Given the description of an element on the screen output the (x, y) to click on. 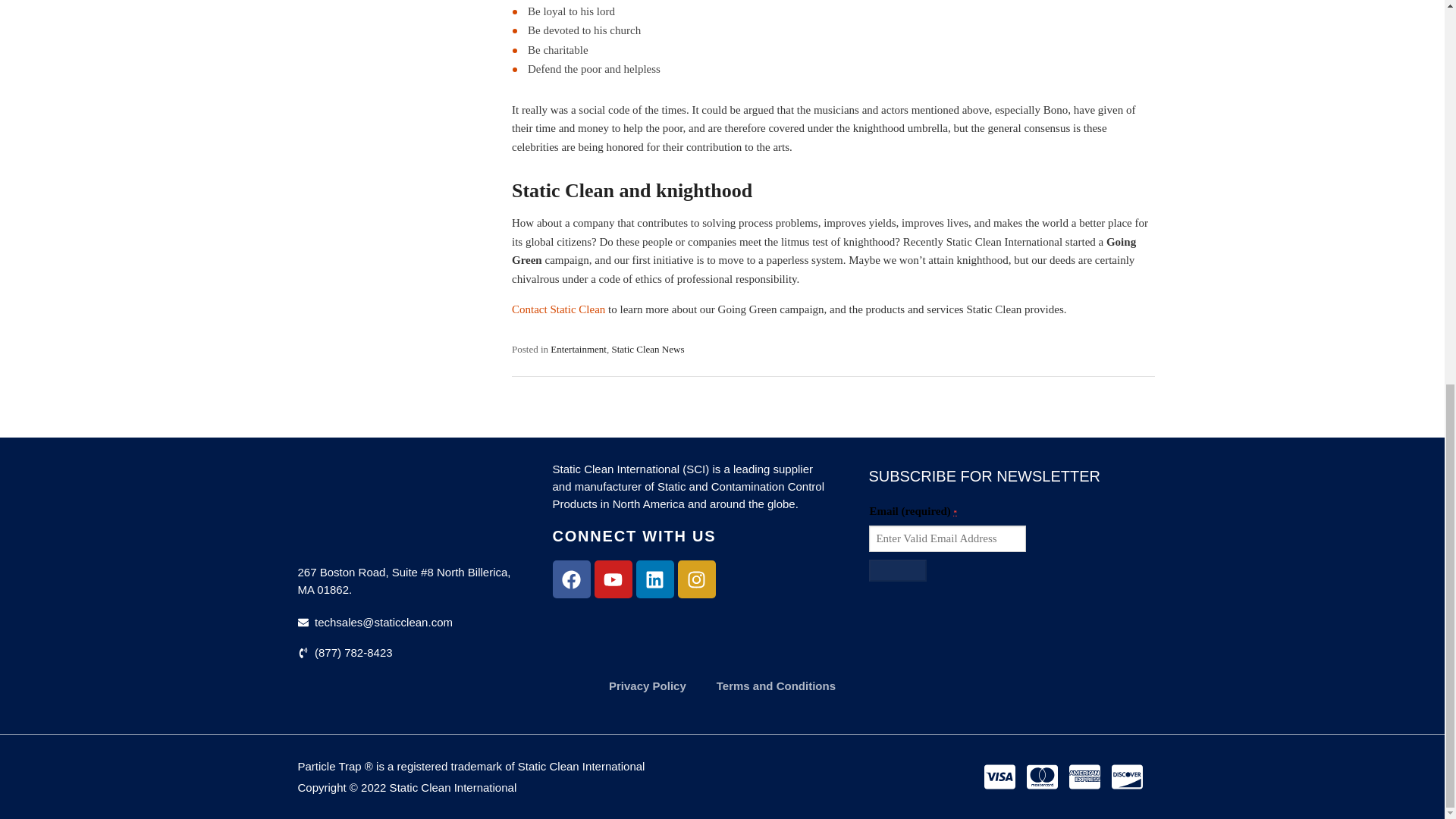
Subscribe (897, 570)
